Given the description of an element on the screen output the (x, y) to click on. 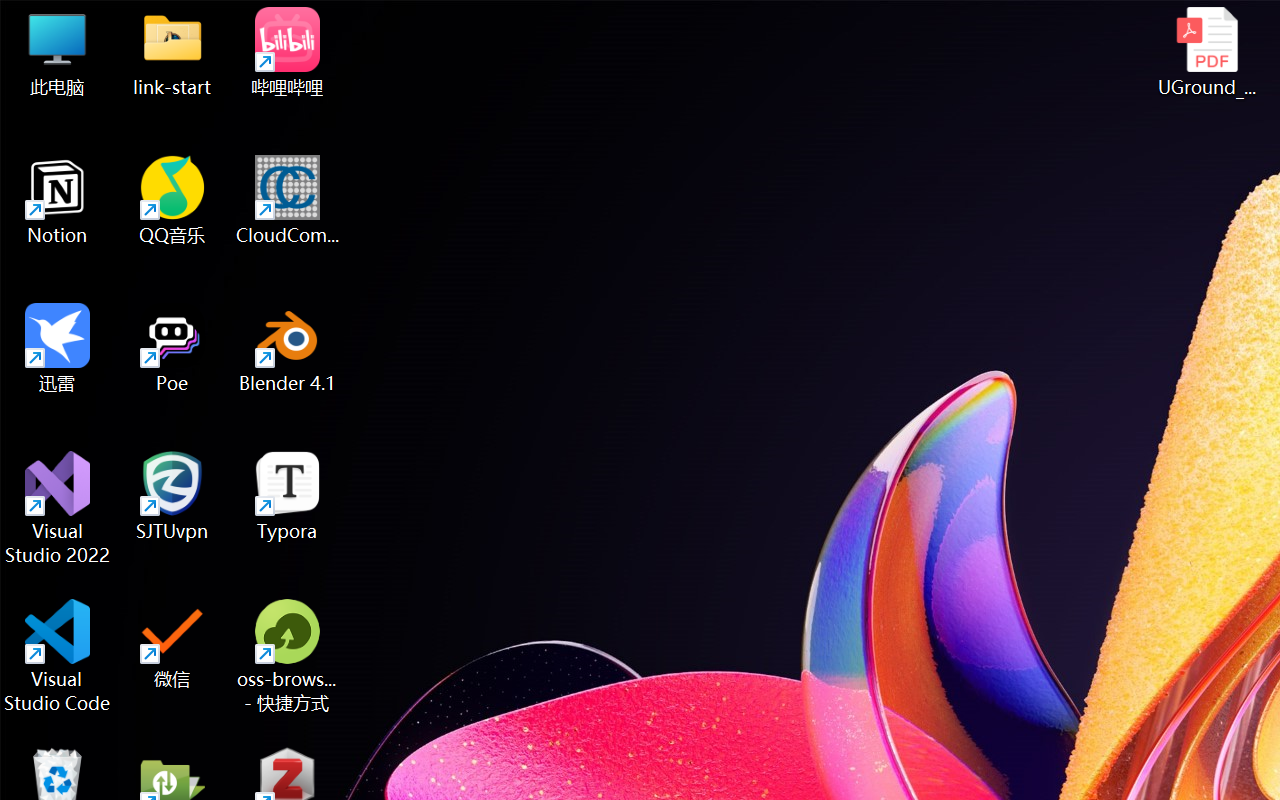
Blender 4.1 (287, 348)
Visual Studio 2022 (57, 508)
SJTUvpn (172, 496)
Typora (287, 496)
CloudCompare (287, 200)
Visual Studio Code (57, 656)
UGround_paper.pdf (1206, 52)
